Given the description of an element on the screen output the (x, y) to click on. 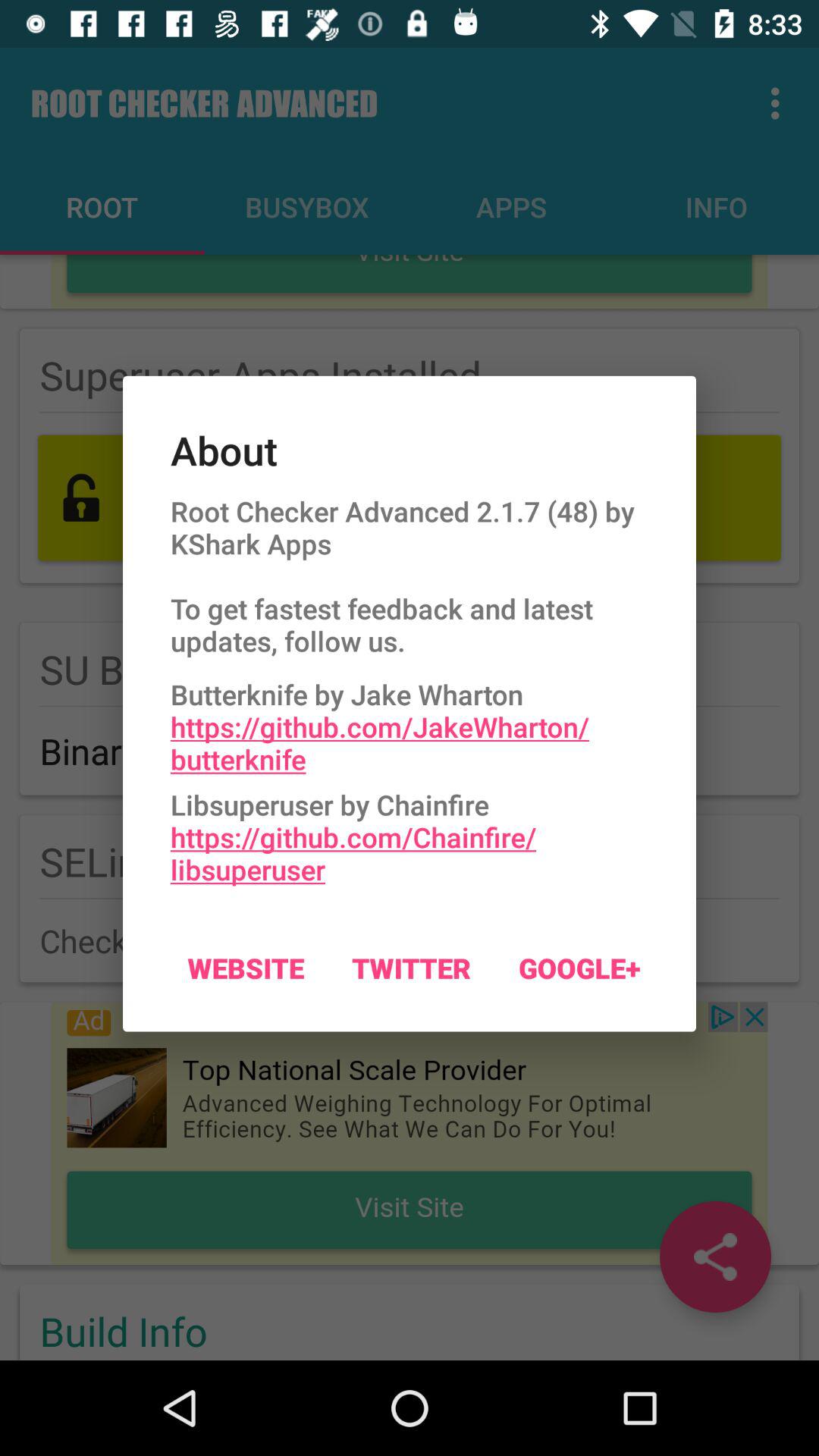
turn off icon below root checker advanced (409, 722)
